Given the description of an element on the screen output the (x, y) to click on. 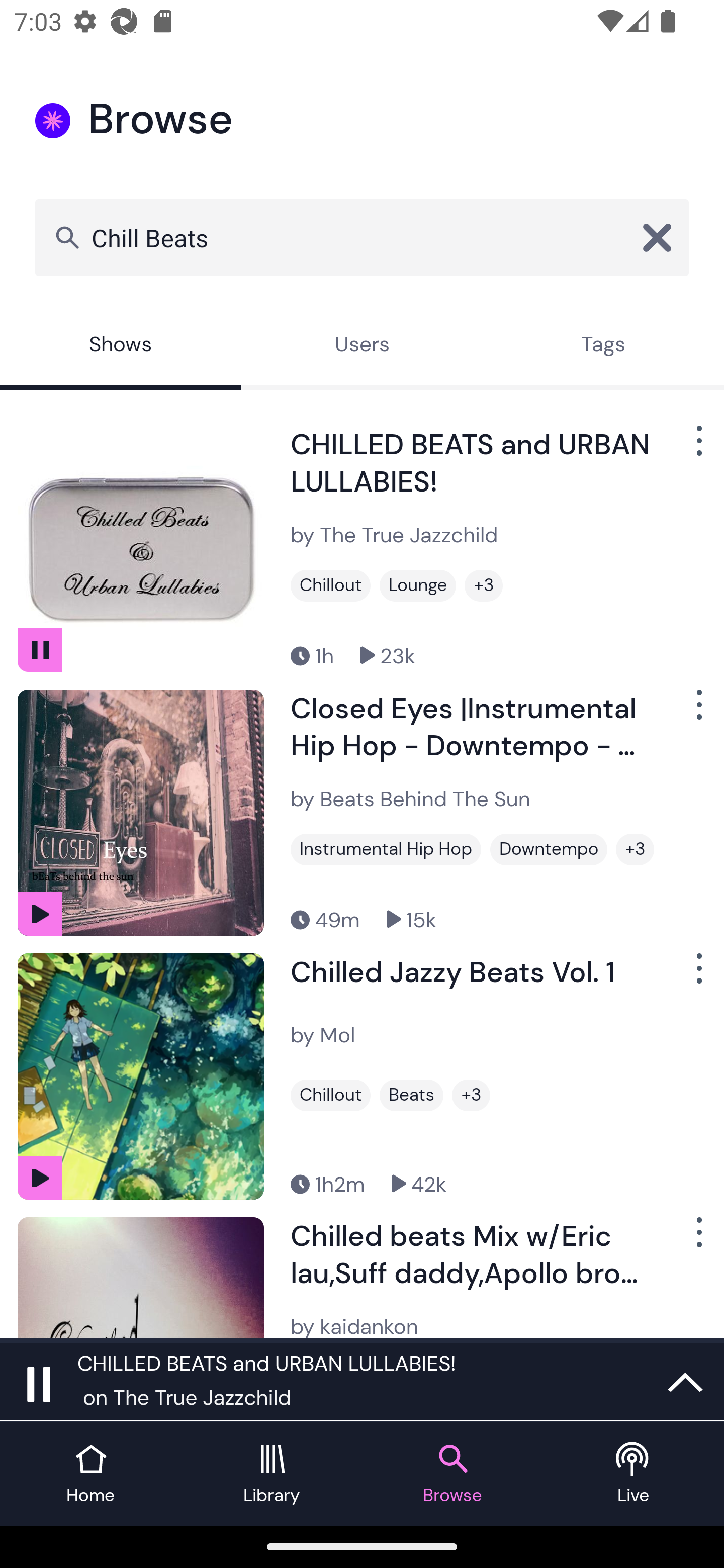
Chill Beats (361, 237)
Shows (120, 346)
Users (361, 346)
Tags (603, 346)
Show Options Menu Button (697, 447)
Chillout (330, 585)
Lounge (417, 585)
Show Options Menu Button (697, 712)
Instrumental Hip Hop (385, 849)
Downtempo (548, 849)
Show Options Menu Button (697, 975)
Chillout (330, 1094)
Beats (411, 1094)
Show Options Menu Button (697, 1239)
Home tab Home (90, 1473)
Library tab Library (271, 1473)
Browse tab Browse (452, 1473)
Live tab Live (633, 1473)
